Given the description of an element on the screen output the (x, y) to click on. 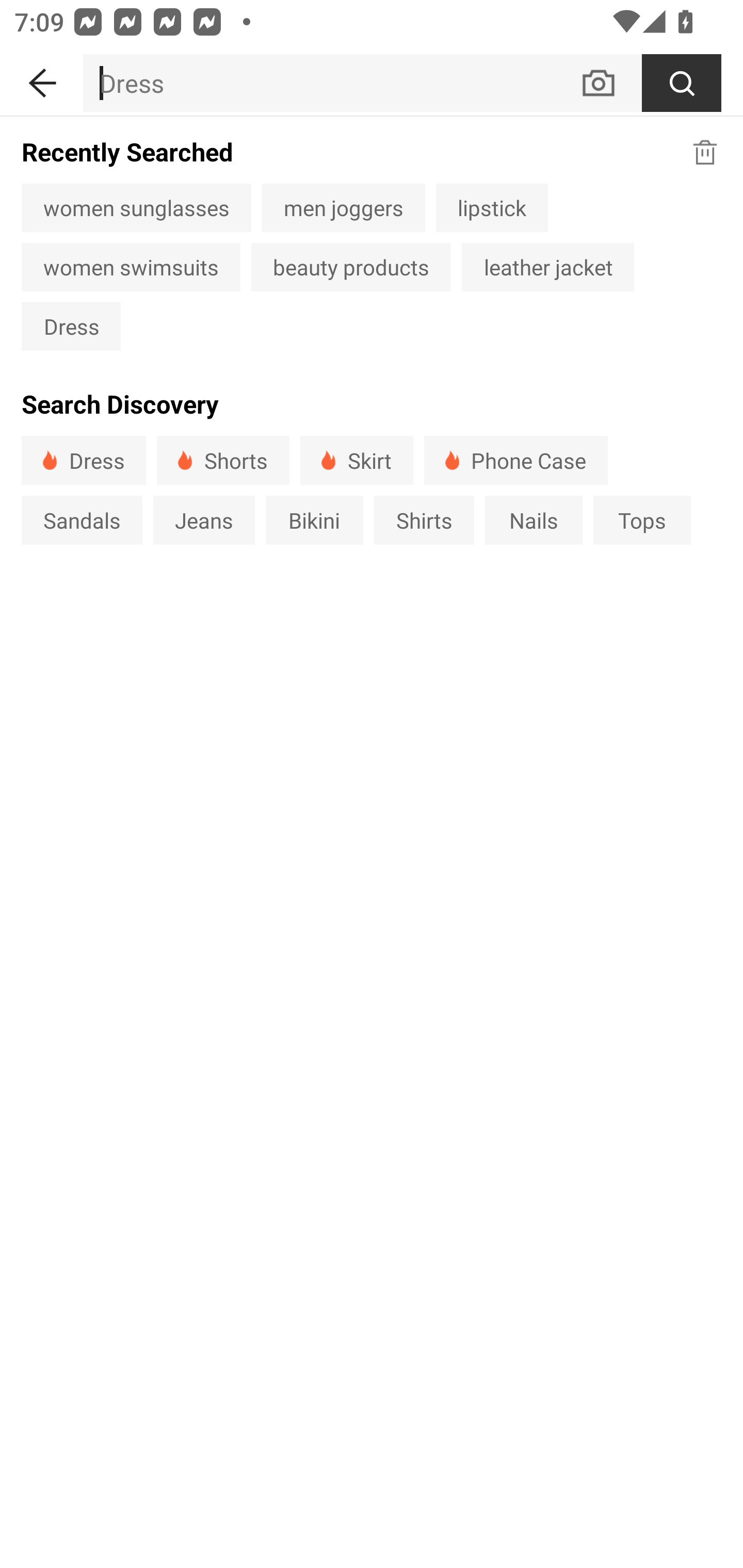
BACK (41, 79)
Dress (330, 82)
women sunglasses (136, 207)
men joggers (343, 207)
lipstick (492, 207)
women swimsuits (130, 267)
beauty products (351, 267)
leather jacket (547, 267)
Dress (70, 326)
Dress (83, 459)
Shorts (222, 459)
Skirt (356, 459)
Phone Case (515, 459)
Sandals (81, 519)
Jeans (203, 519)
Bikini (314, 519)
Shirts (423, 519)
Nails (533, 519)
Tops (641, 519)
